Given the description of an element on the screen output the (x, y) to click on. 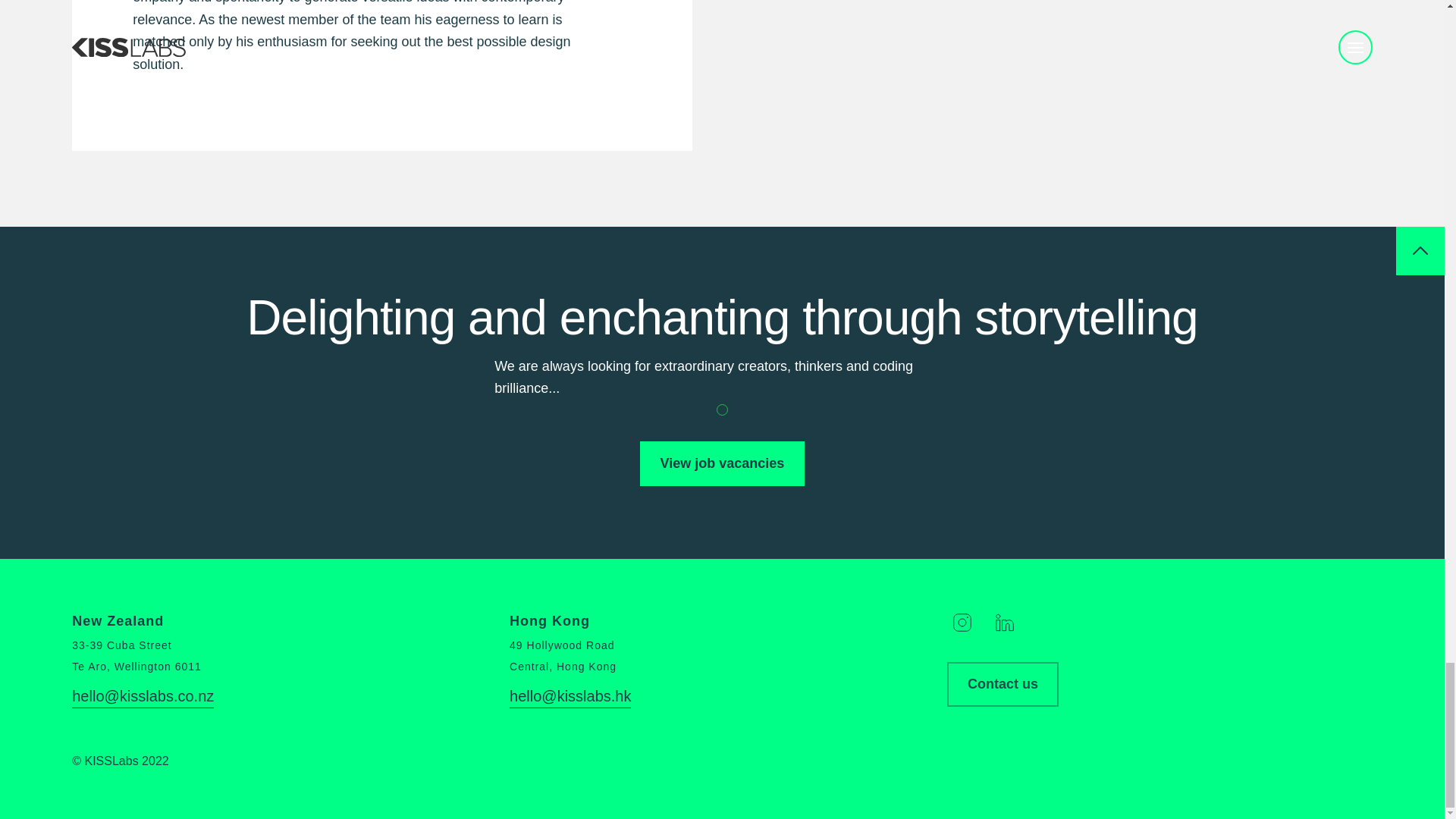
Contact us (1002, 683)
View job vacancies (722, 463)
